Given the description of an element on the screen output the (x, y) to click on. 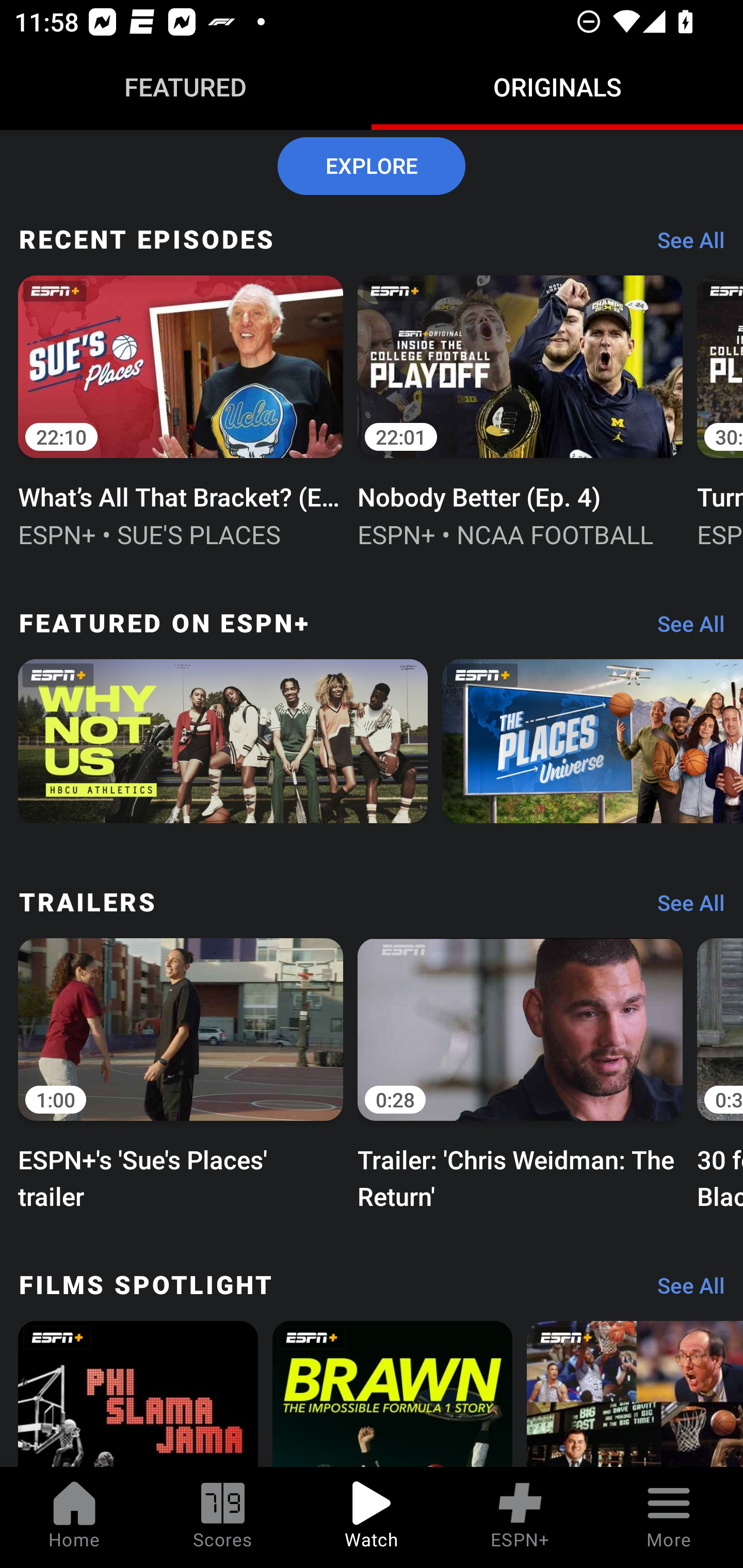
Featured FEATURED (185, 86)
EXPLORE (371, 165)
See All (683, 244)
22:01 Nobody Better (Ep. 4) ESPN+ • NCAA FOOTBALL (519, 409)
See All (683, 628)
See All (683, 907)
1:00 ESPN+'s 'Sue's Places' trailer (180, 1072)
0:28 Trailer: 'Chris Weidman: The Return' (519, 1072)
See All (683, 1289)
Home (74, 1517)
Scores (222, 1517)
ESPN+ (519, 1517)
More (668, 1517)
